Given the description of an element on the screen output the (x, y) to click on. 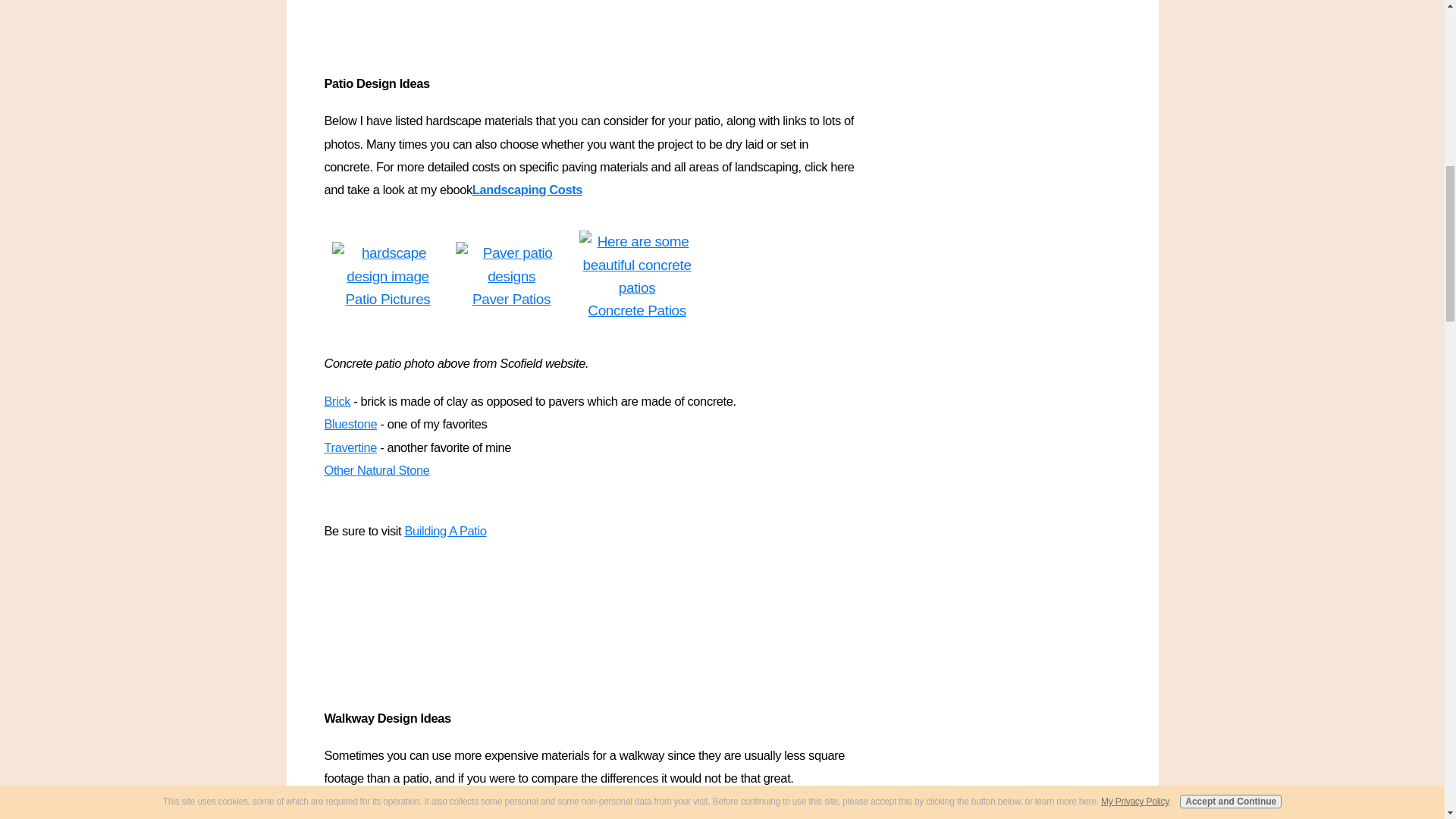
Patio Pictures (388, 299)
go to the concrete patio page (637, 264)
go to patio pictures (387, 264)
see some great paver patio pictures (511, 264)
Landscaping Costs (526, 188)
